Given the description of an element on the screen output the (x, y) to click on. 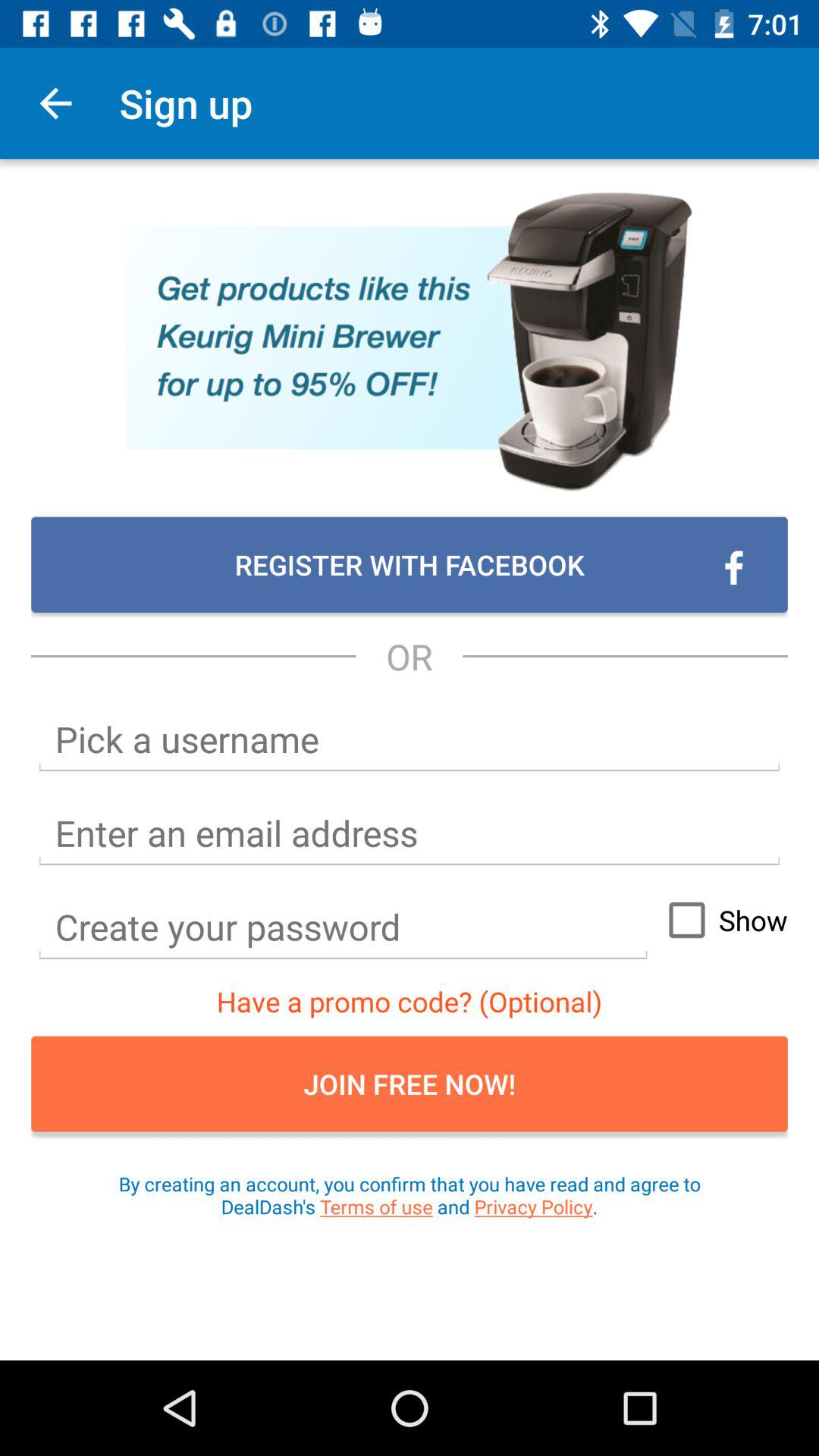
text box (409, 833)
